Given the description of an element on the screen output the (x, y) to click on. 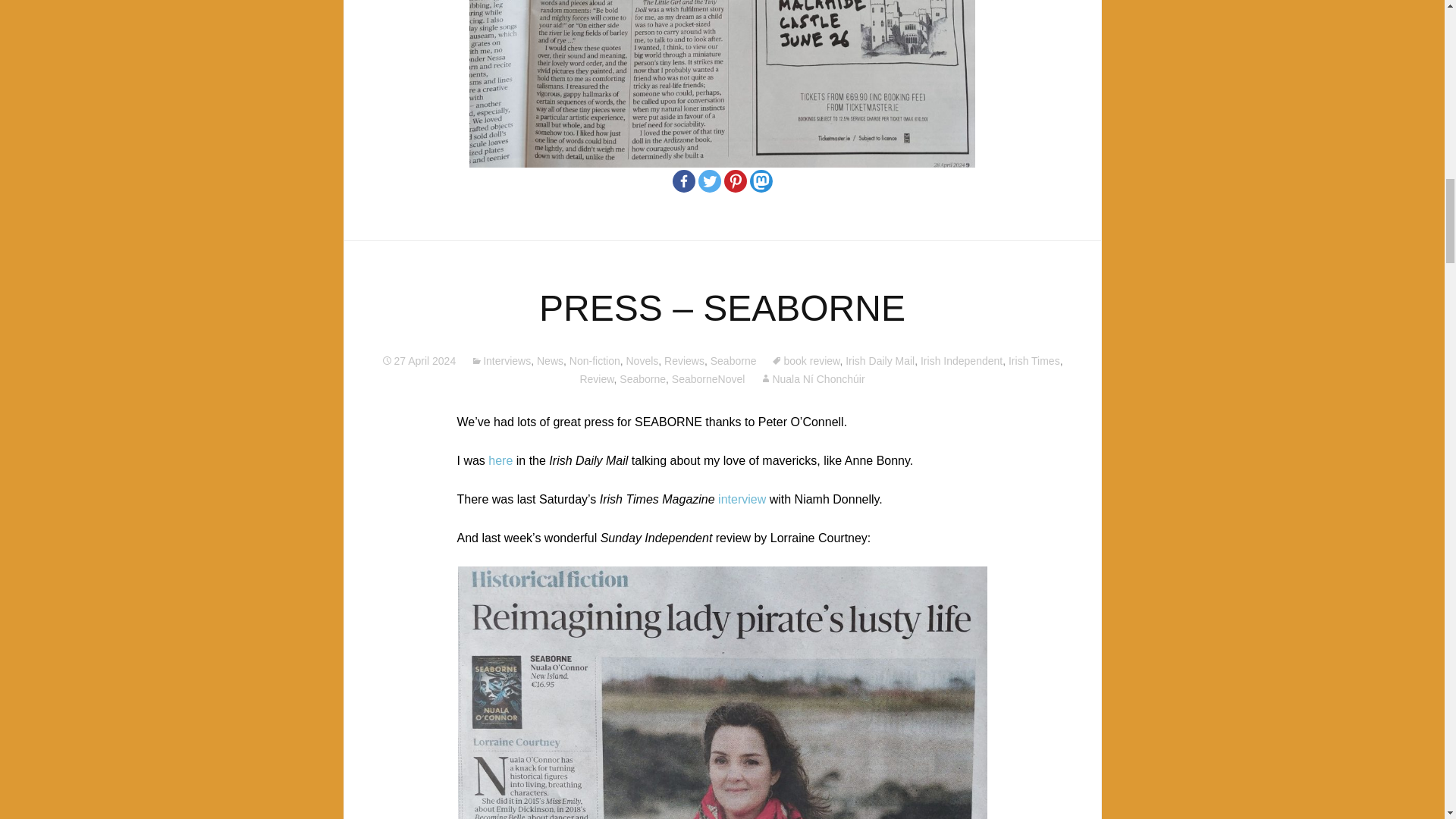
Mastodon (760, 180)
Twitter (708, 180)
Facebook (682, 180)
Pinterest (734, 180)
